Given the description of an element on the screen output the (x, y) to click on. 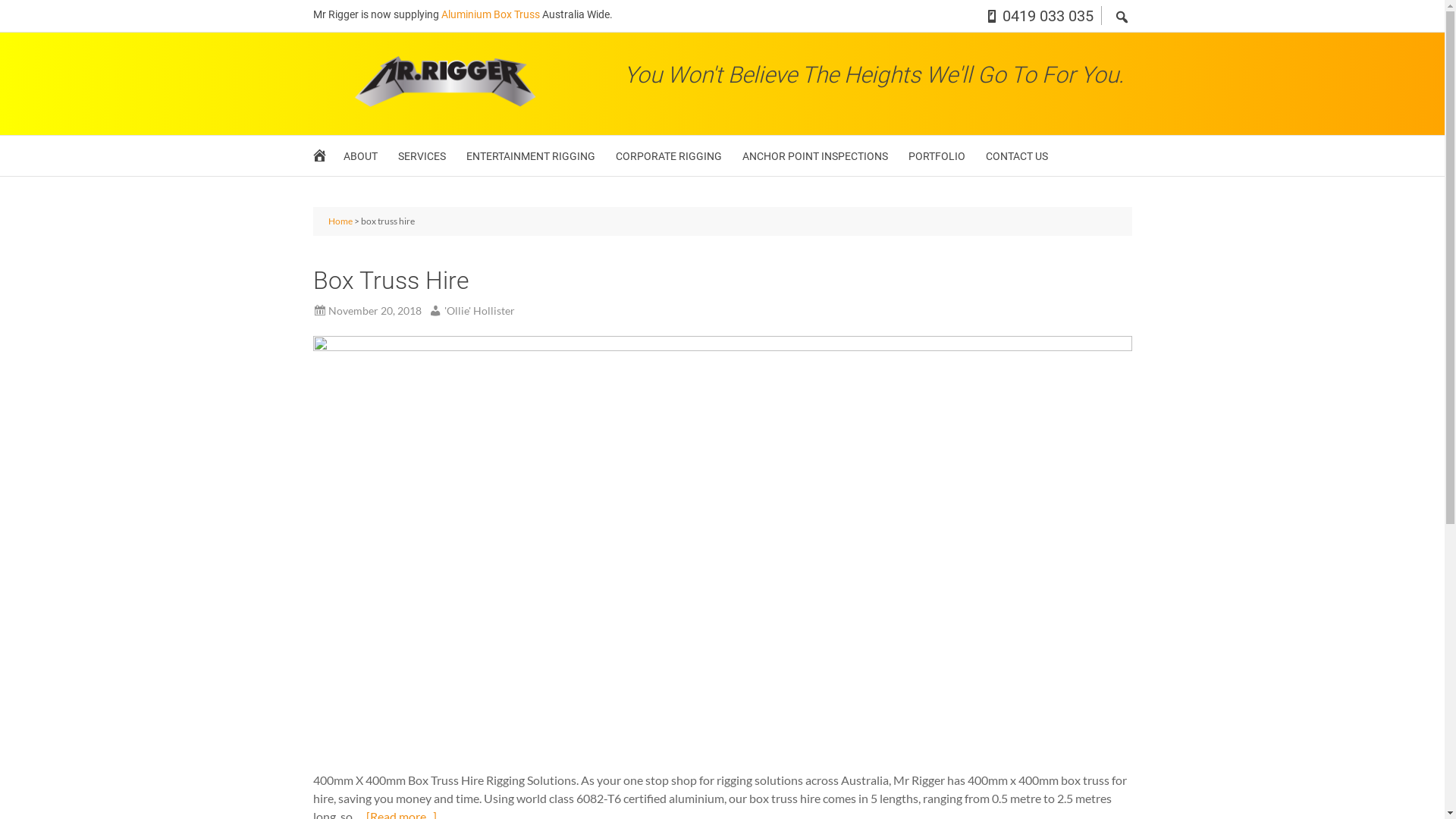
ENTERTAINMENT RIGGING Element type: text (529, 155)
CONTACT US Element type: text (1016, 155)
ANCHOR POINT INSPECTIONS Element type: text (814, 155)
ABOUT Element type: text (359, 155)
Aluminium Box Truss Element type: text (490, 14)
CORPORATE RIGGING Element type: text (668, 155)
PORTFOLIO Element type: text (936, 155)
HOME Element type: text (321, 159)
Box Truss Hire Element type: text (390, 280)
Home Element type: text (339, 220)
SERVICES Element type: text (421, 155)
'Ollie' Hollister Element type: text (468, 310)
